Given the description of an element on the screen output the (x, y) to click on. 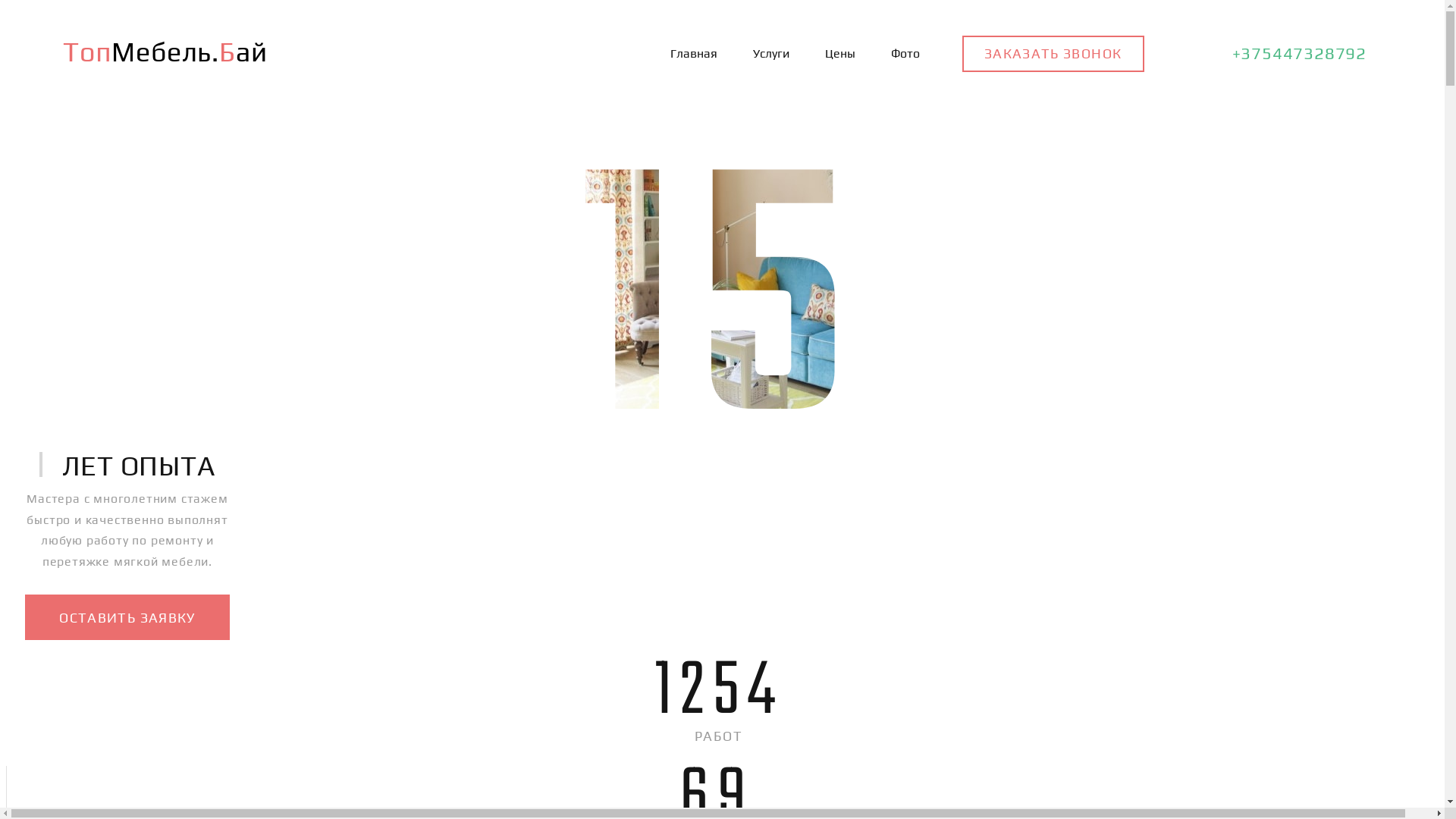
+375447328792 Element type: text (1265, 52)
15 Element type: text (722, 290)
